Given the description of an element on the screen output the (x, y) to click on. 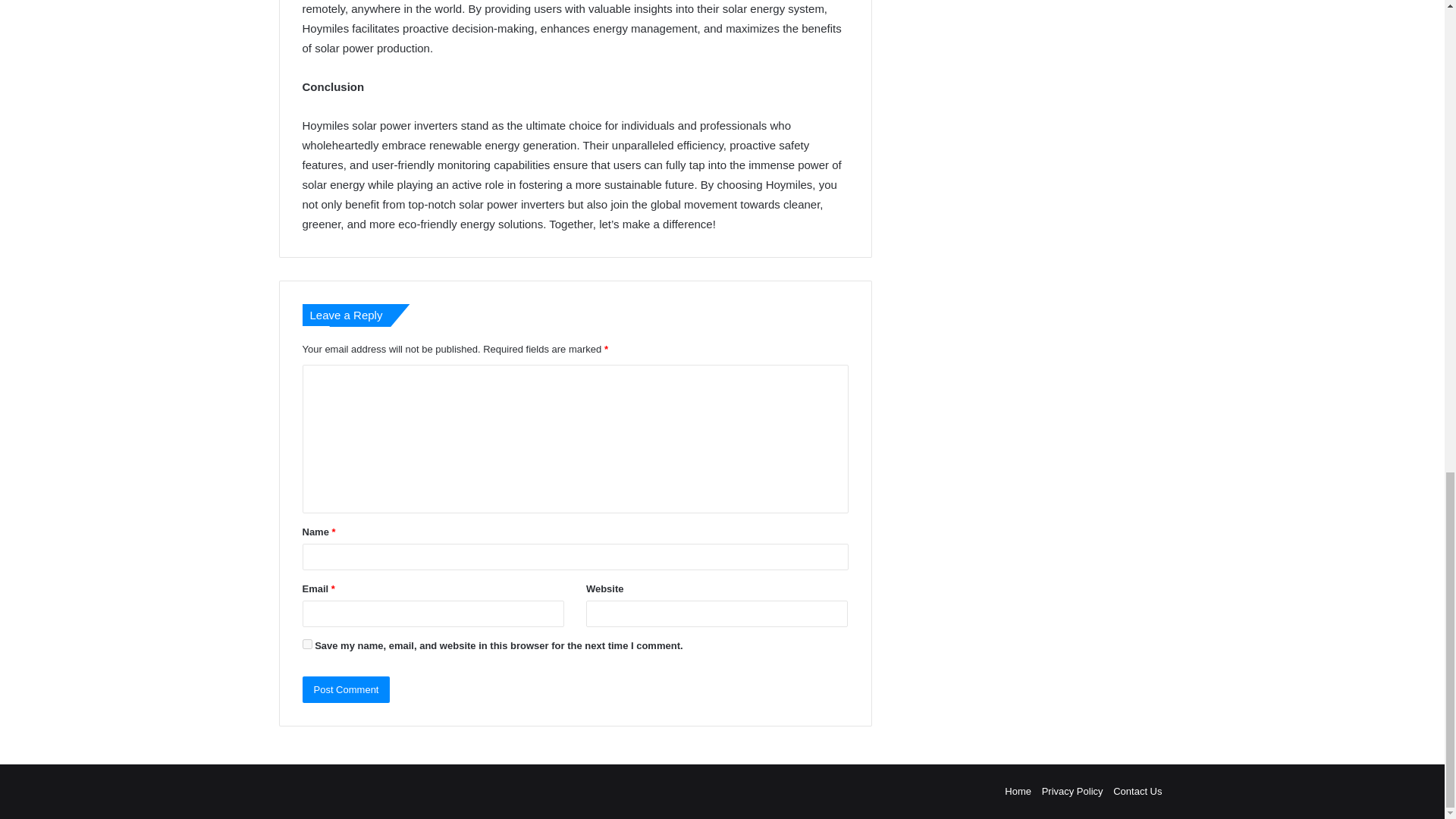
Post Comment (345, 689)
Privacy Policy (1072, 790)
Home (1017, 790)
Post Comment (345, 689)
yes (306, 644)
